Given the description of an element on the screen output the (x, y) to click on. 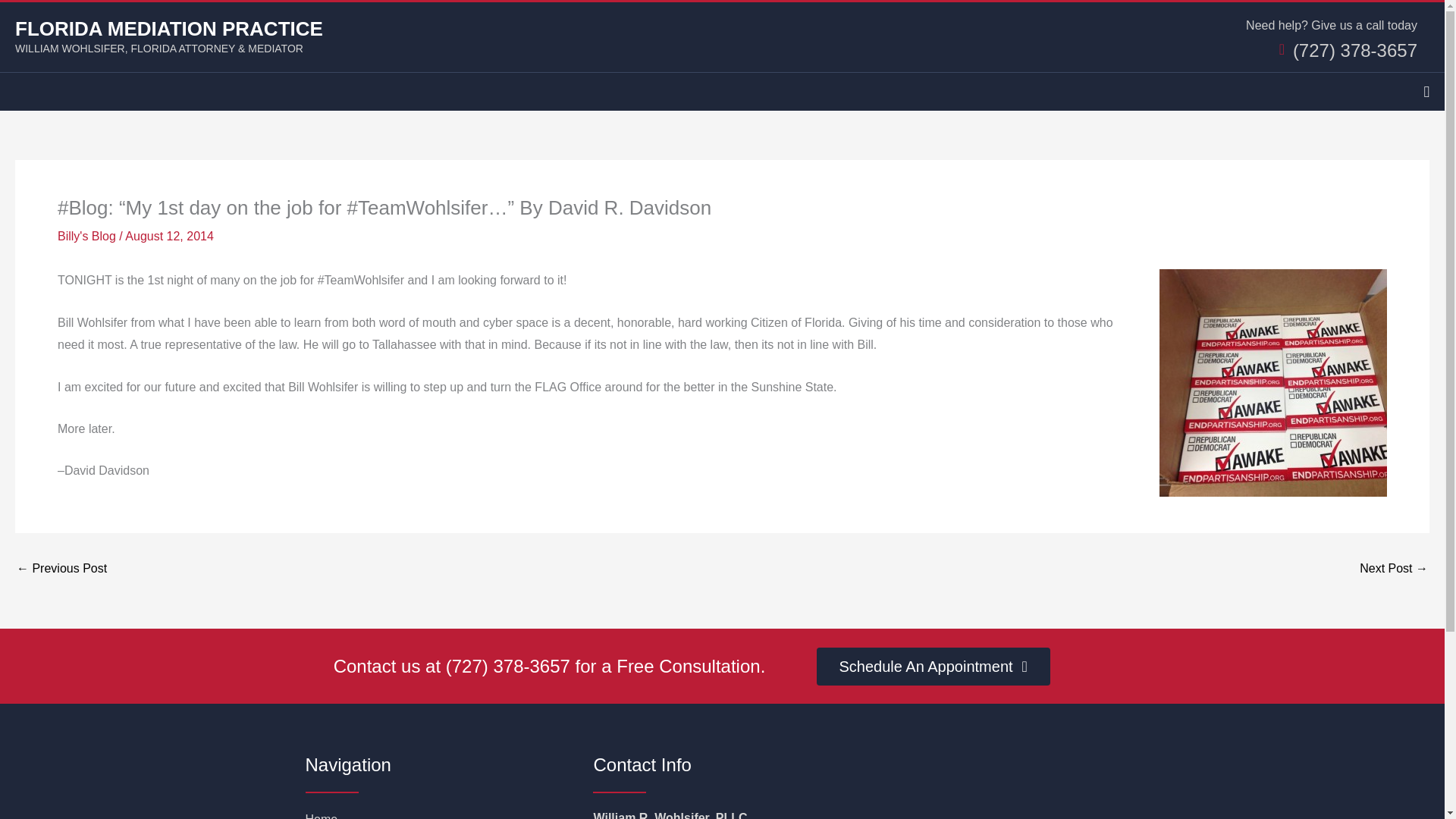
Billy's Blog (87, 236)
FLORIDA MEDIATION PRACTICE (168, 27)
Home (433, 813)
Schedule An Appointment (932, 666)
Wohlsifer Answers the Call for Help (61, 568)
